Given the description of an element on the screen output the (x, y) to click on. 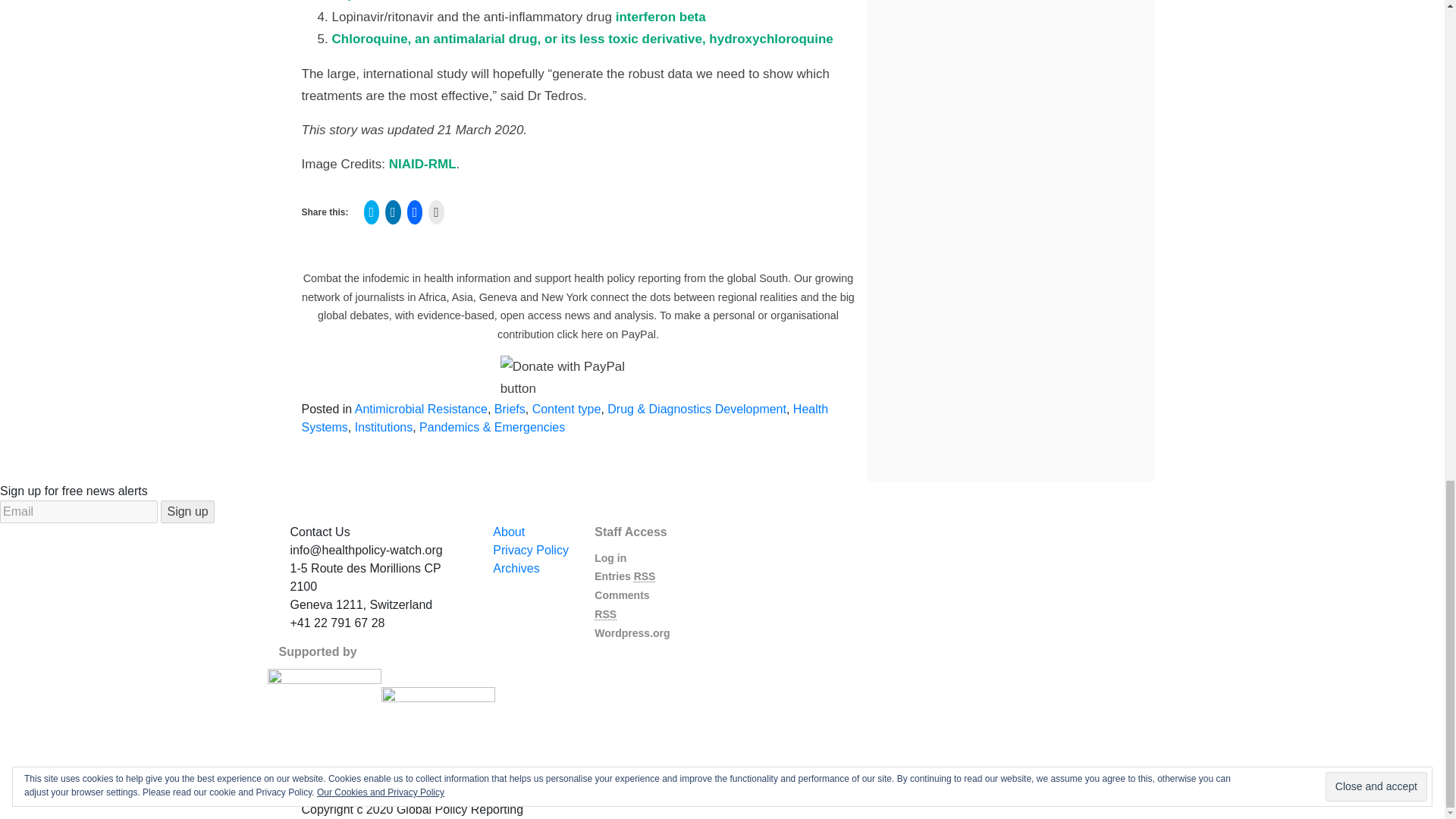
Briefs (510, 408)
interferon beta (658, 16)
Antimicrobial Resistance (421, 408)
Content type (566, 408)
Health Systems (564, 418)
Sign up (187, 510)
NIAID-RML (422, 164)
